Given the description of an element on the screen output the (x, y) to click on. 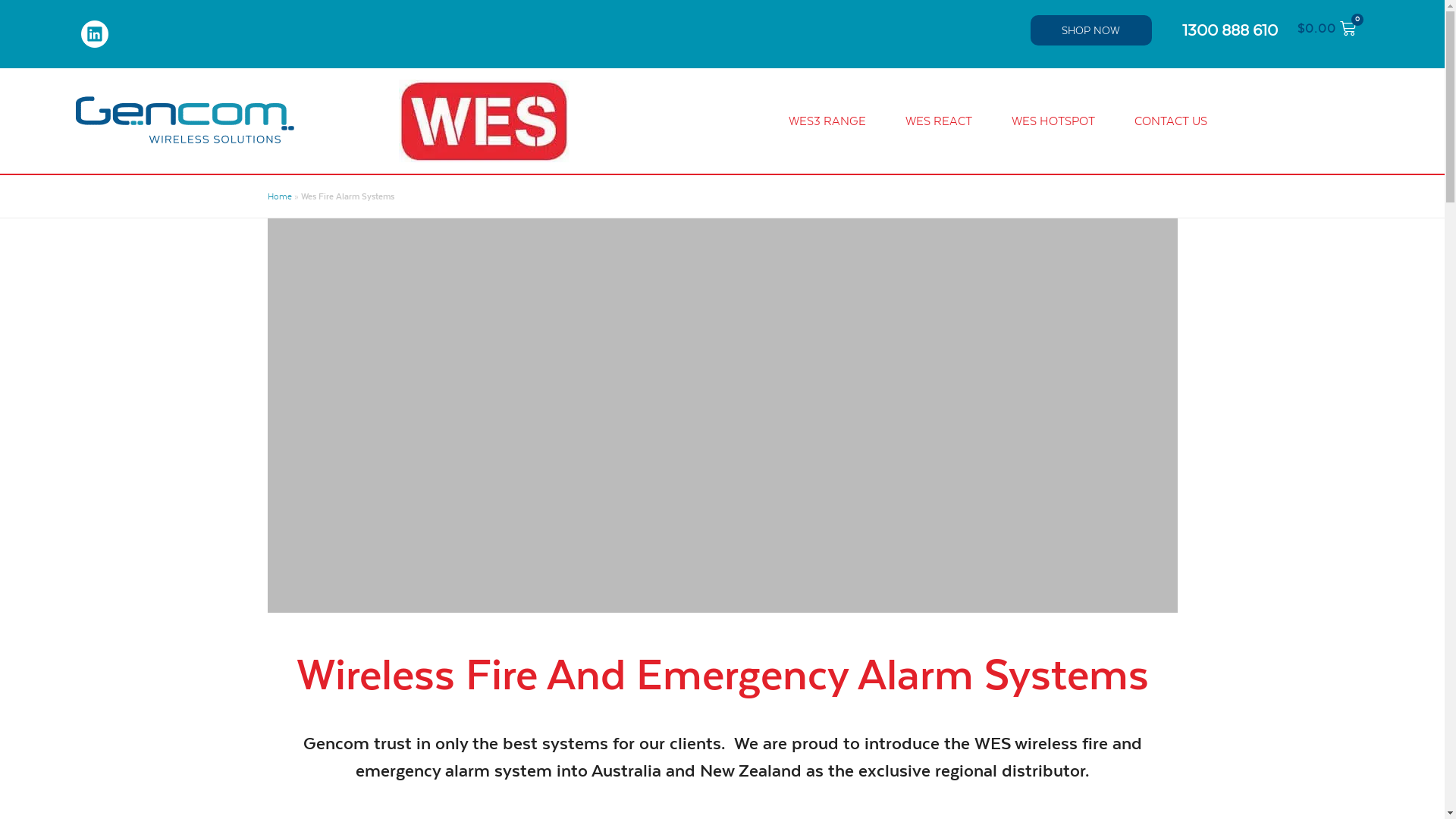
Home Element type: text (278, 196)
WES3 RANGE Element type: text (827, 120)
WES REACT Element type: text (938, 120)
$0.00
0 Element type: text (1326, 28)
CONTACT US Element type: text (1170, 120)
WES HOTSPOT Element type: text (1053, 120)
1300 888 610 Element type: text (1229, 30)
SHOP NOW Element type: text (1090, 30)
